Given the description of an element on the screen output the (x, y) to click on. 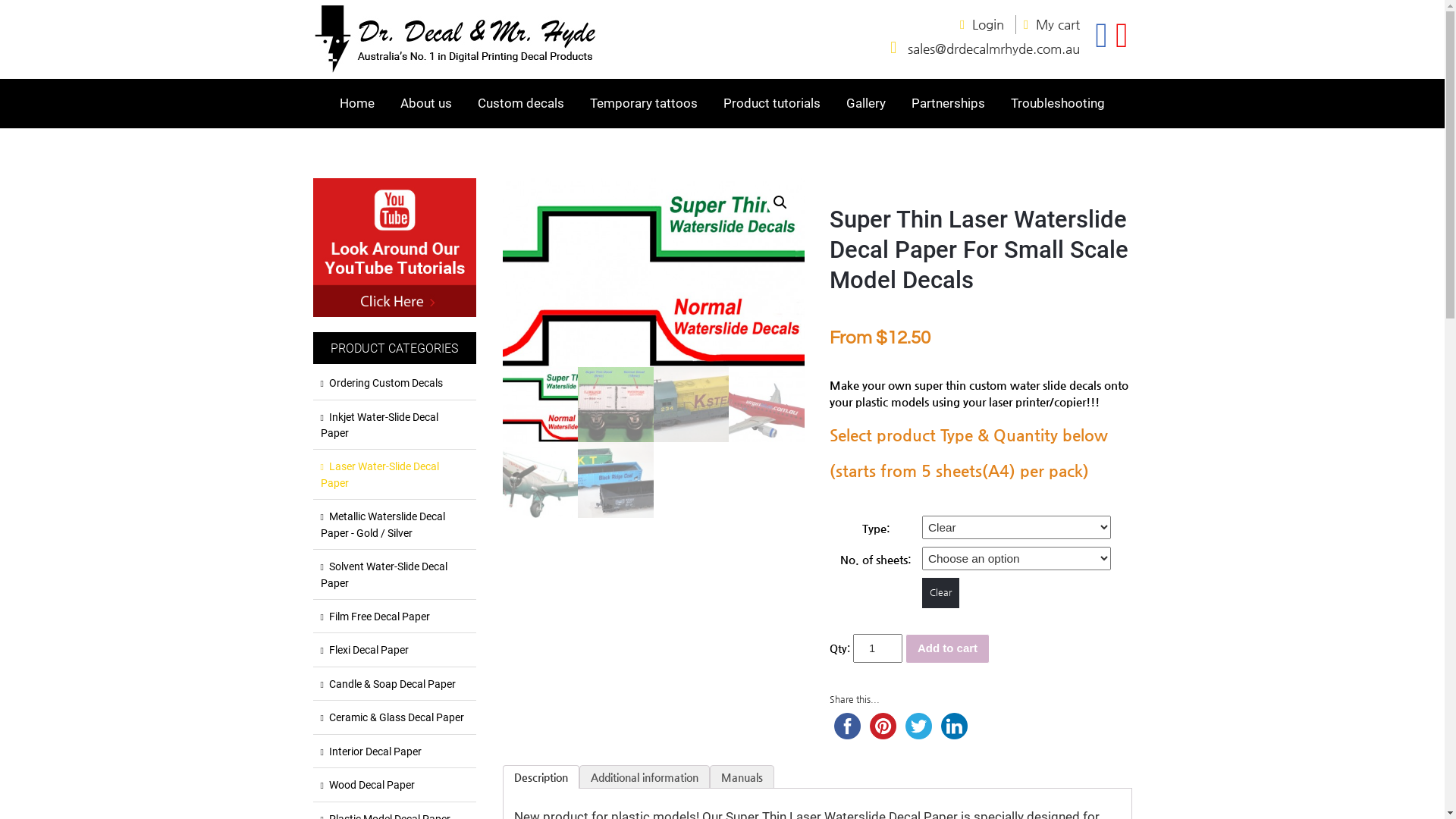
Product tutorials Element type: text (771, 103)
Wood Decal Paper Element type: text (393, 785)
About us Element type: text (426, 103)
My cart Element type: text (1057, 23)
Login Element type: text (993, 23)
Manuals Element type: text (740, 777)
Qty Element type: hover (877, 647)
Description Element type: text (540, 777)
Twitter Element type: hover (918, 725)
Facebook Element type: hover (847, 725)
Pinterest Element type: hover (882, 725)
Ordering Custom Decals Element type: text (393, 383)
Metallic Waterslide Decal Paper - Gold / Silver Element type: text (393, 524)
Troubleshooting Element type: text (1057, 103)
Additional information Element type: text (643, 777)
Partnerships Element type: text (948, 103)
Flexi Decal Paper Element type: text (393, 650)
Inkjet Water-Slide Decal Paper Element type: text (393, 425)
Candle & Soap Decal Paper Element type: text (393, 684)
WSLC-Super Thin Element type: hover (652, 272)
Custom decals Element type: text (520, 103)
Laser Water-Slide Decal Paper Element type: text (393, 474)
Solvent Water-Slide Decal Paper Element type: text (393, 574)
Add to cart Element type: text (947, 648)
Gallery Element type: text (865, 103)
Interior Decal Paper Element type: text (393, 751)
Film Free Decal Paper Element type: text (393, 616)
Dr. Decal & Mr. Hyde Element type: hover (456, 70)
Clear Element type: text (940, 592)
LinkedIn Element type: hover (954, 725)
Ceramic & Glass Decal Paper Element type: text (393, 717)
Home Element type: text (356, 103)
Temporary tattoos Element type: text (643, 103)
